Given the description of an element on the screen output the (x, y) to click on. 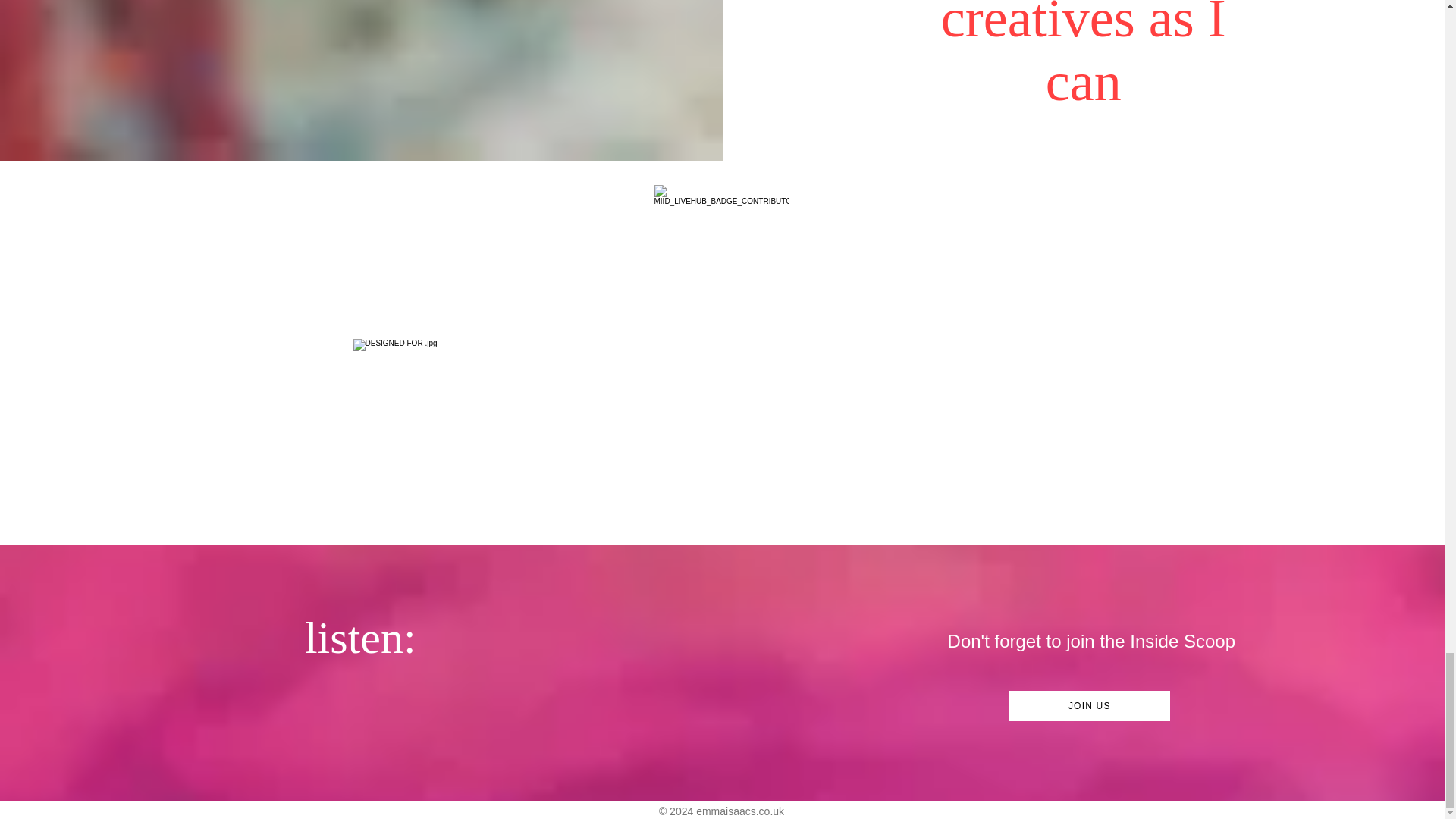
JOIN US (1089, 706)
